Given the description of an element on the screen output the (x, y) to click on. 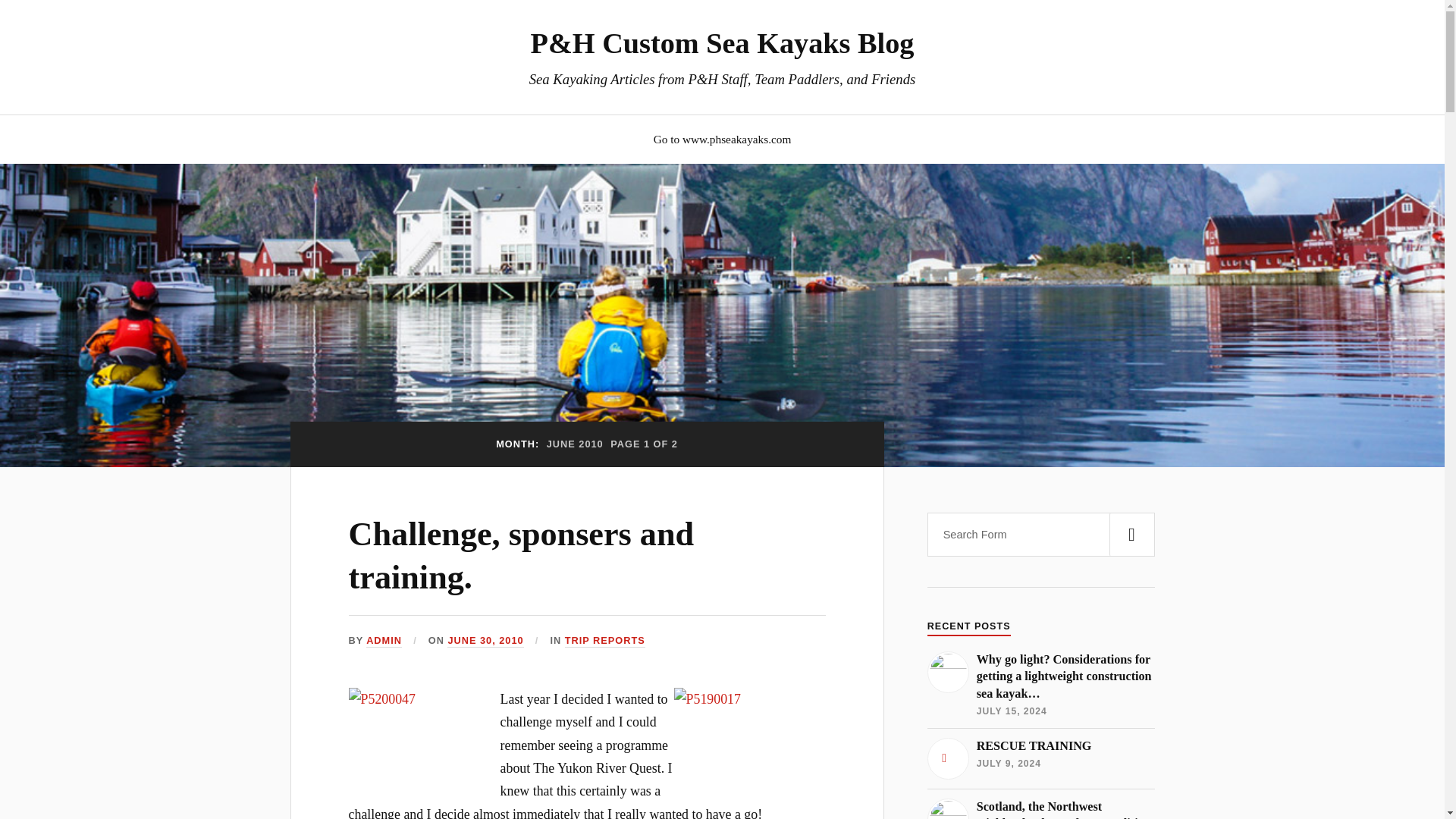
TRIP REPORTS (604, 640)
ADMIN (383, 640)
Challenge, sponsers and training. (521, 555)
JUNE 30, 2010 (484, 640)
Go to www.phseakayaks.com (722, 138)
Posts by Admin (383, 640)
